Given the description of an element on the screen output the (x, y) to click on. 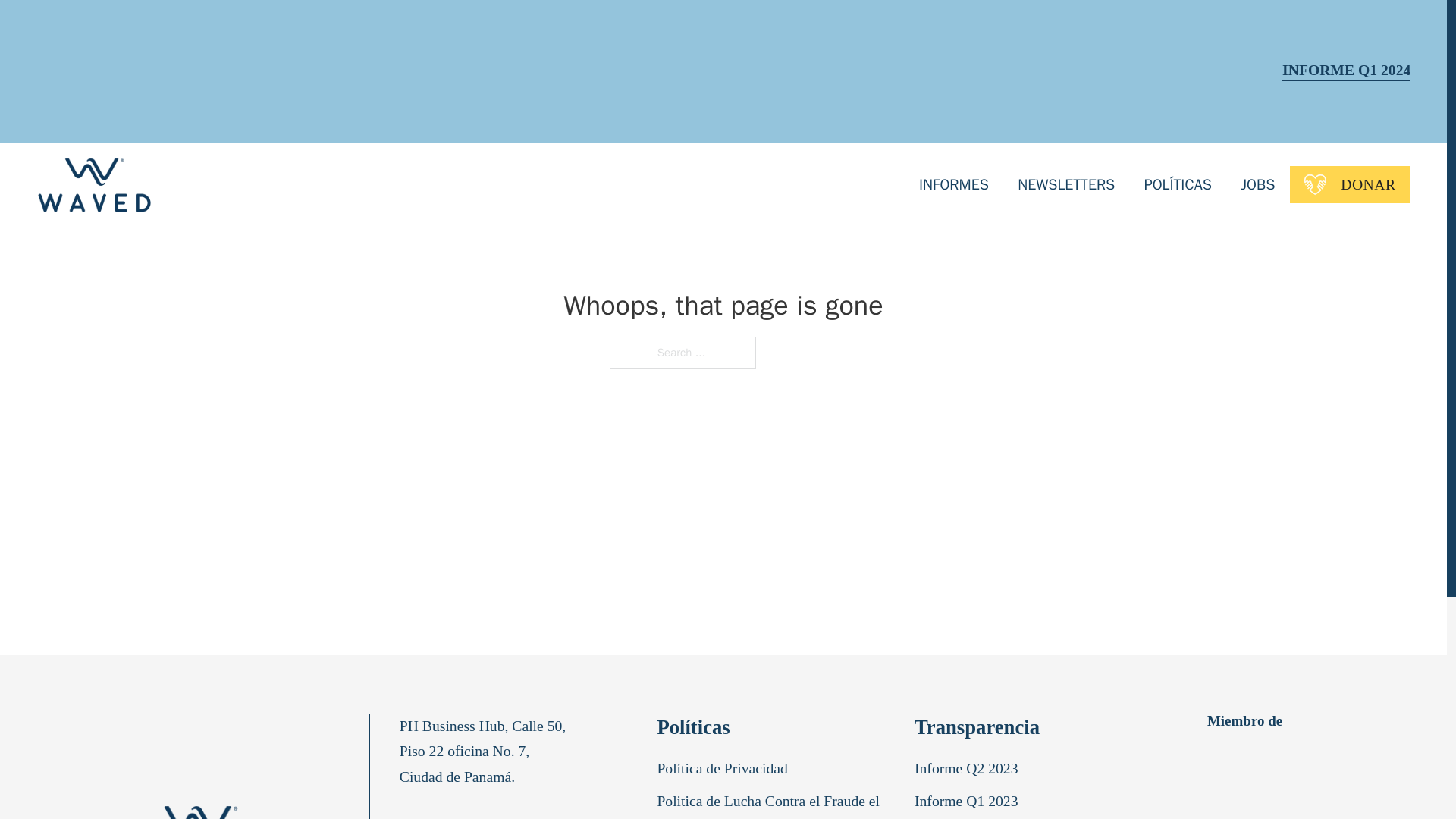
INFORMES (953, 184)
NEWSLETTERS (1066, 184)
JOBS (1257, 184)
DONAR (1350, 184)
INFORME Q1 2024 (1346, 71)
Informe Q2 2023 (969, 771)
Informe Q1 2023 (969, 803)
